Given the description of an element on the screen output the (x, y) to click on. 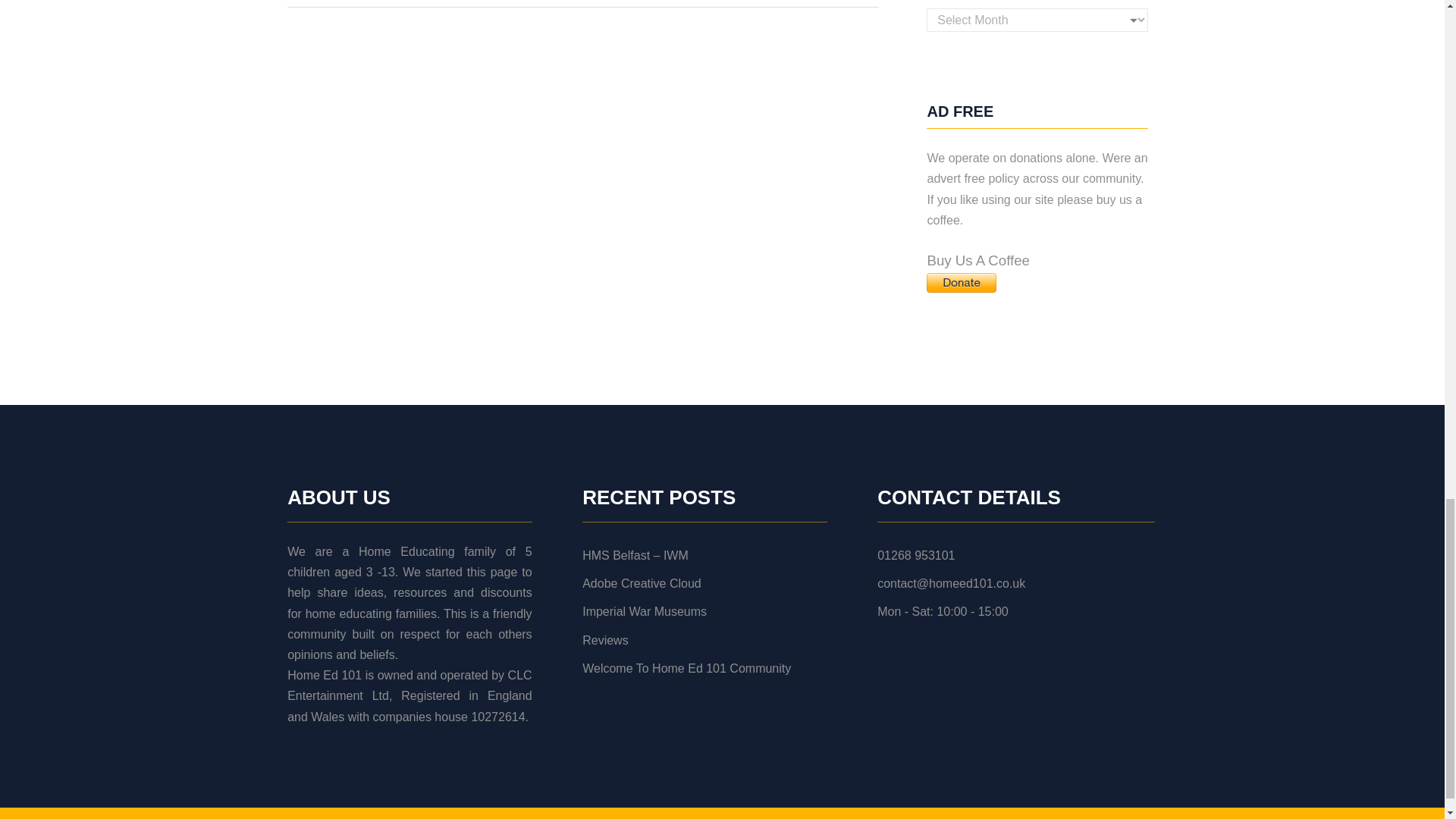
Imperial War Museums (644, 611)
Reviews (604, 640)
Adobe Creative Cloud (641, 583)
Welcome To Home Ed 101 Community (686, 667)
